Given the description of an element on the screen output the (x, y) to click on. 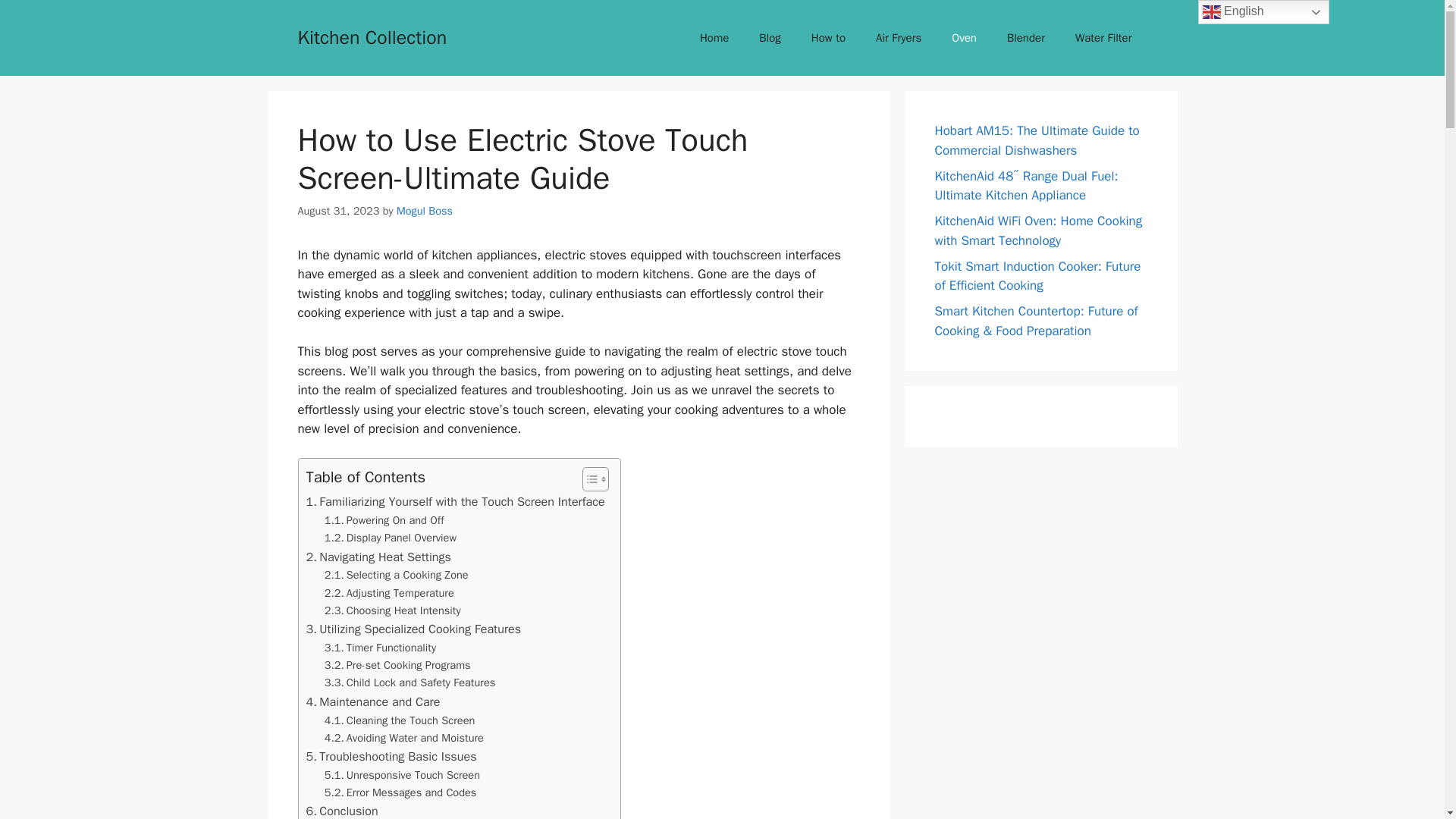
Navigating Heat Settings (378, 557)
Pre-set Cooking Programs (397, 665)
Air Fryers (898, 37)
 Familiarizing Yourself with the Touch Screen Interface (455, 501)
Utilizing Specialized Cooking Features (413, 629)
Timer Functionality (379, 647)
Powering On and Off (384, 520)
Powering On and Off (384, 520)
Selecting a Cooking Zone (396, 574)
Adjusting Temperature (389, 592)
